Given the description of an element on the screen output the (x, y) to click on. 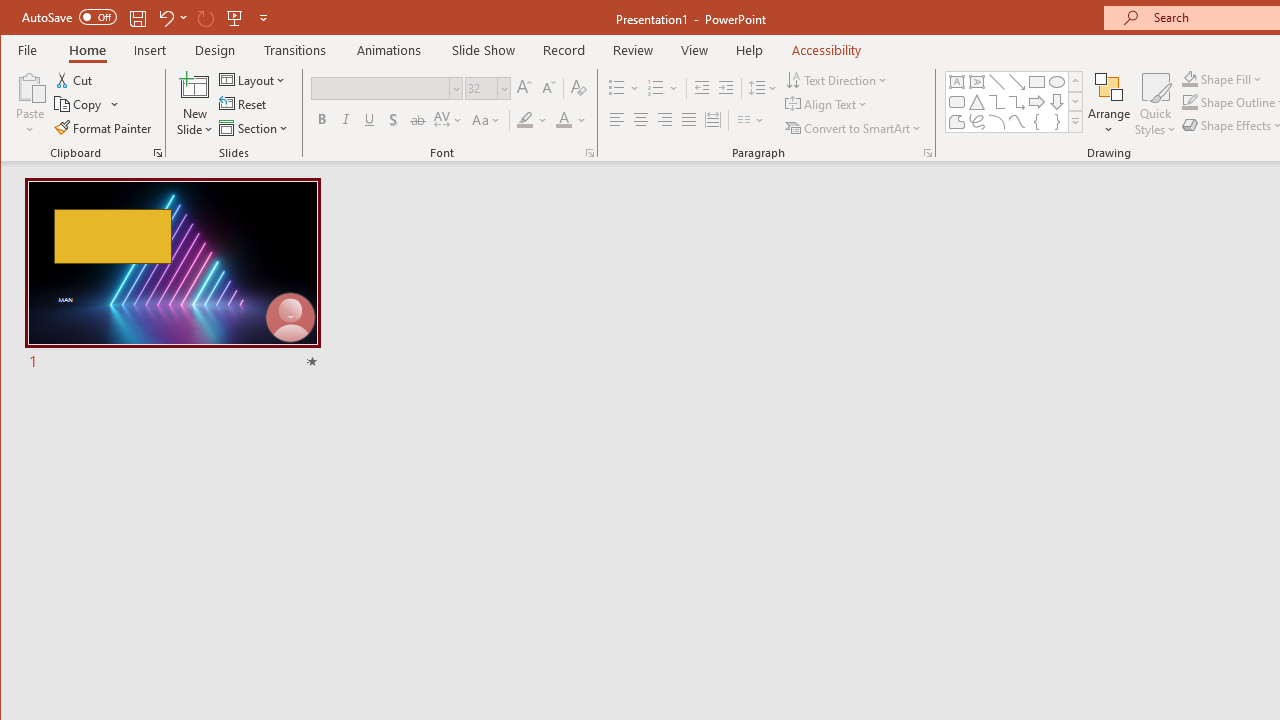
Row up (1074, 81)
Increase Indent (726, 88)
Rectangle (1036, 82)
Reset (244, 103)
Character Spacing (449, 119)
Text Box (956, 82)
Text Highlight Color Yellow (525, 119)
Columns (751, 119)
Align Right (664, 119)
AutomationID: ShapesInsertGallery (1014, 102)
Line Spacing (764, 88)
